Given the description of an element on the screen output the (x, y) to click on. 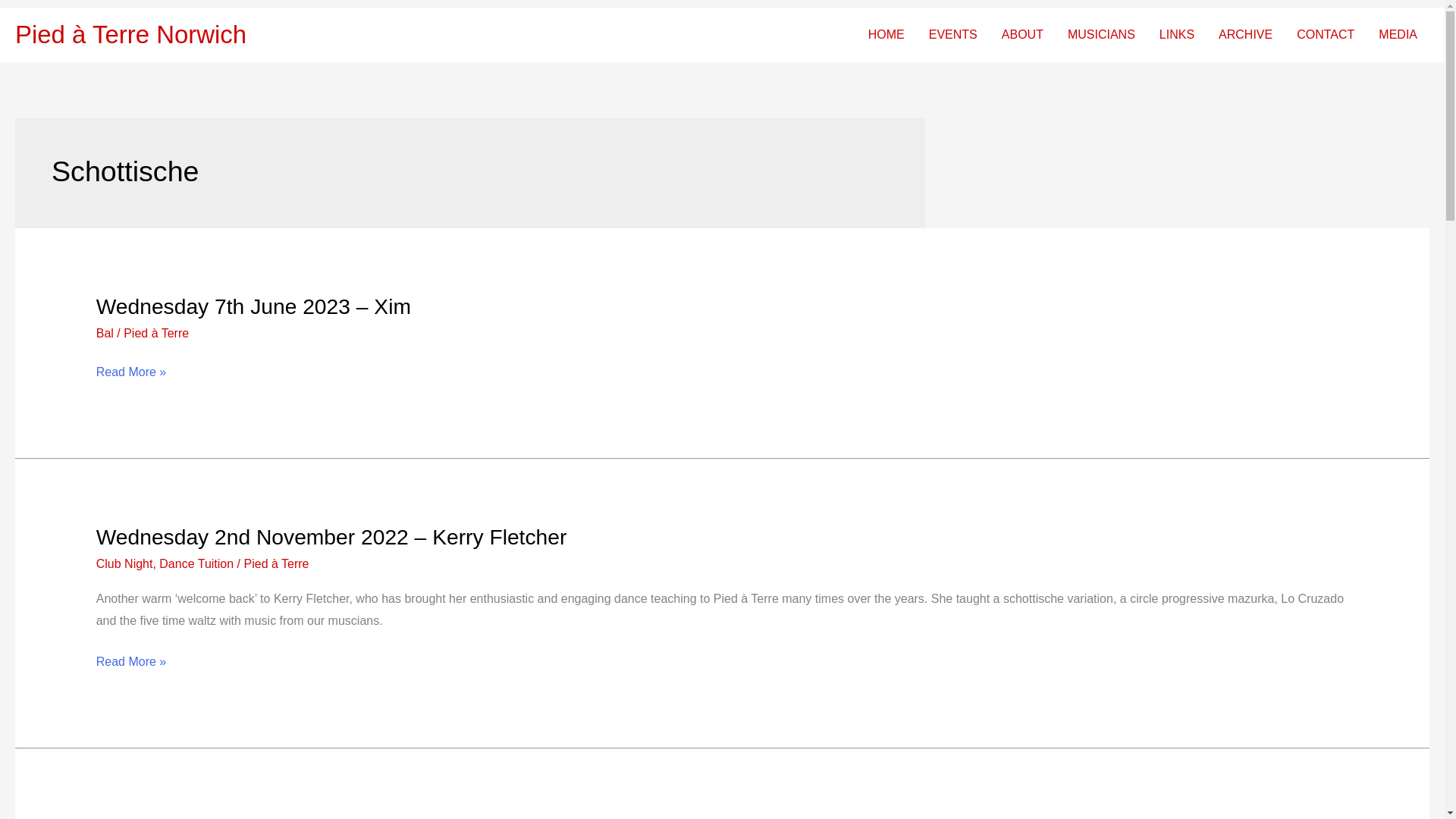
MUSICIANS (1101, 34)
Bal (104, 332)
Club Night (124, 563)
LINKS (1177, 34)
Dance Tuition (195, 563)
CONTACT (1325, 34)
ARCHIVE (1245, 34)
HOME (886, 34)
EVENTS (953, 34)
ABOUT (1022, 34)
MEDIA (1398, 34)
